Given the description of an element on the screen output the (x, y) to click on. 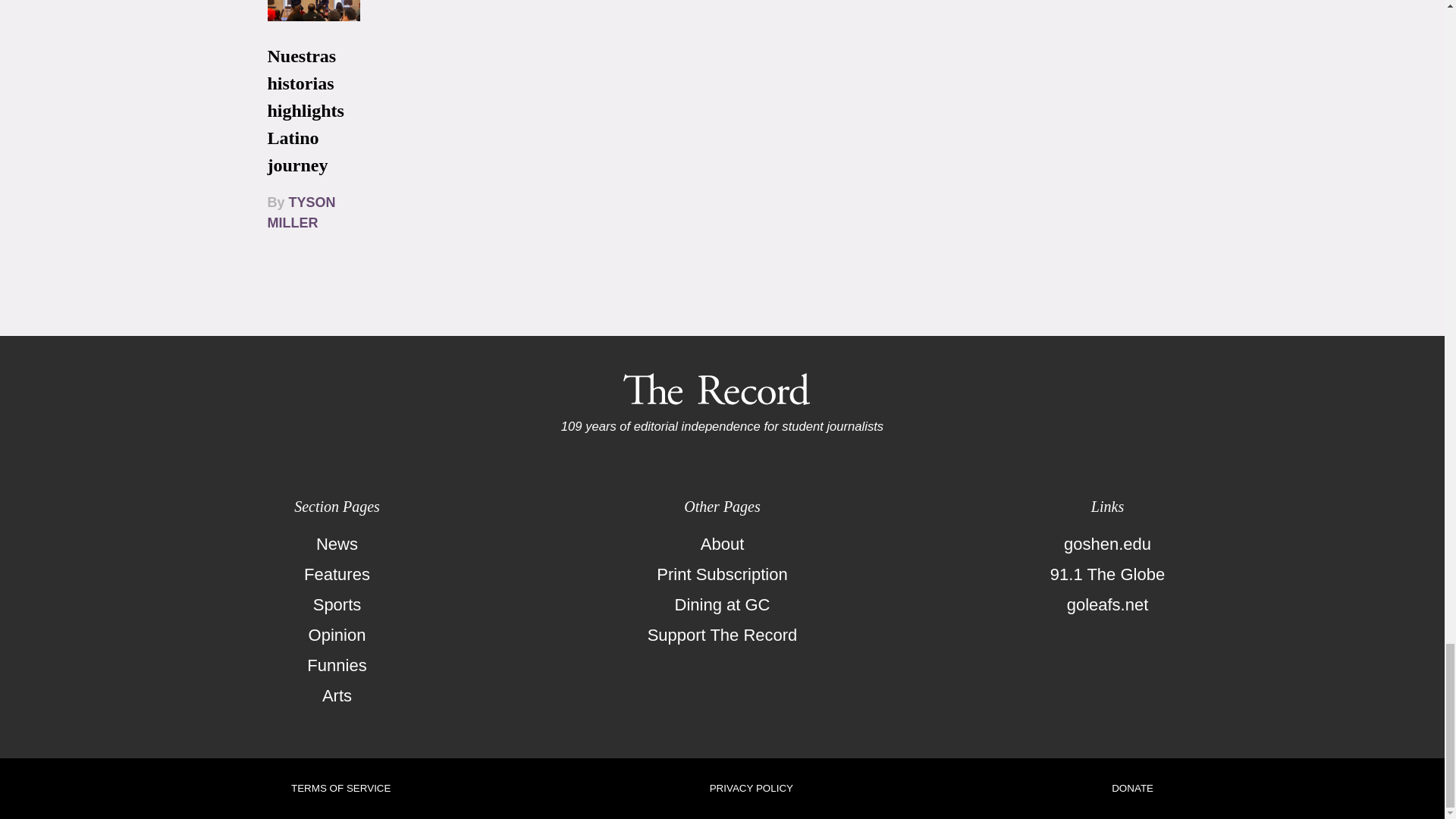
Arts (336, 695)
Features (336, 574)
Sports (336, 604)
Funnies (336, 665)
Opinion (336, 634)
Dining at GC (722, 604)
TYSON MILLER (300, 212)
News (336, 544)
Print Subscription (722, 574)
About (722, 544)
